Given the description of an element on the screen output the (x, y) to click on. 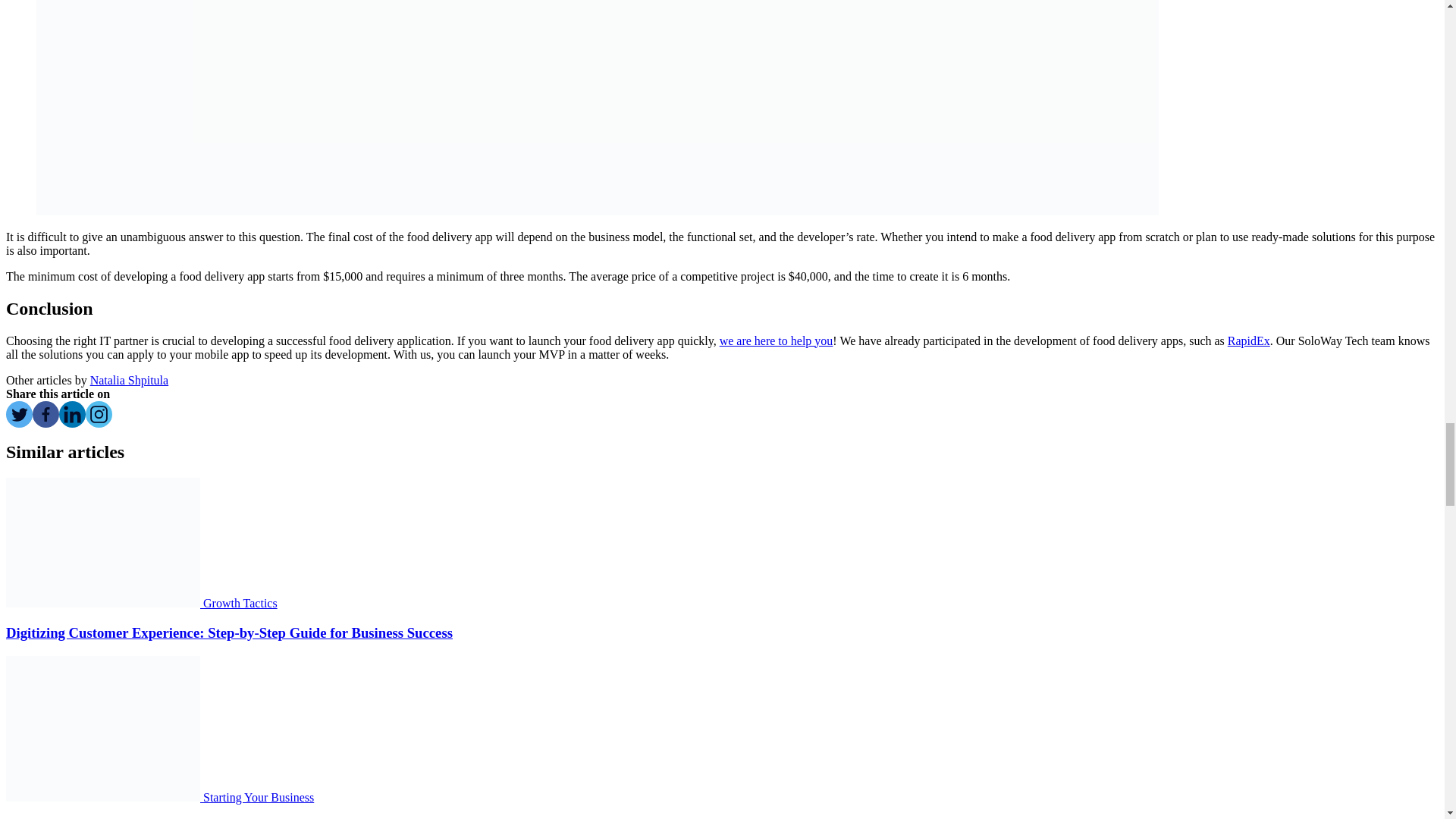
Instagram (98, 414)
Twitter (18, 414)
Facebook (45, 414)
Linkedin (72, 414)
